Given the description of an element on the screen output the (x, y) to click on. 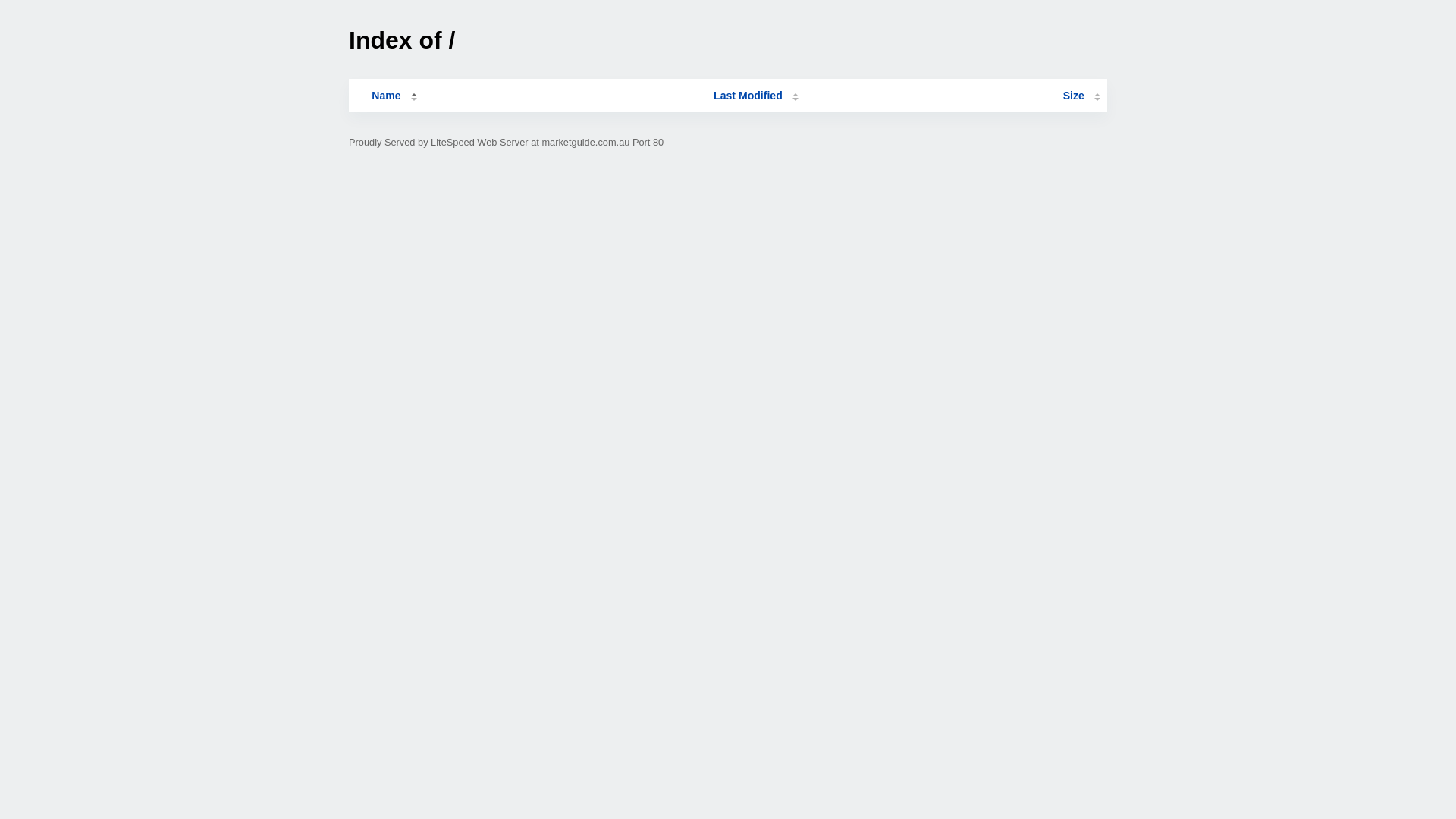
Name Element type: text (385, 95)
Last Modified Element type: text (755, 95)
Size Element type: text (1081, 95)
